Given the description of an element on the screen output the (x, y) to click on. 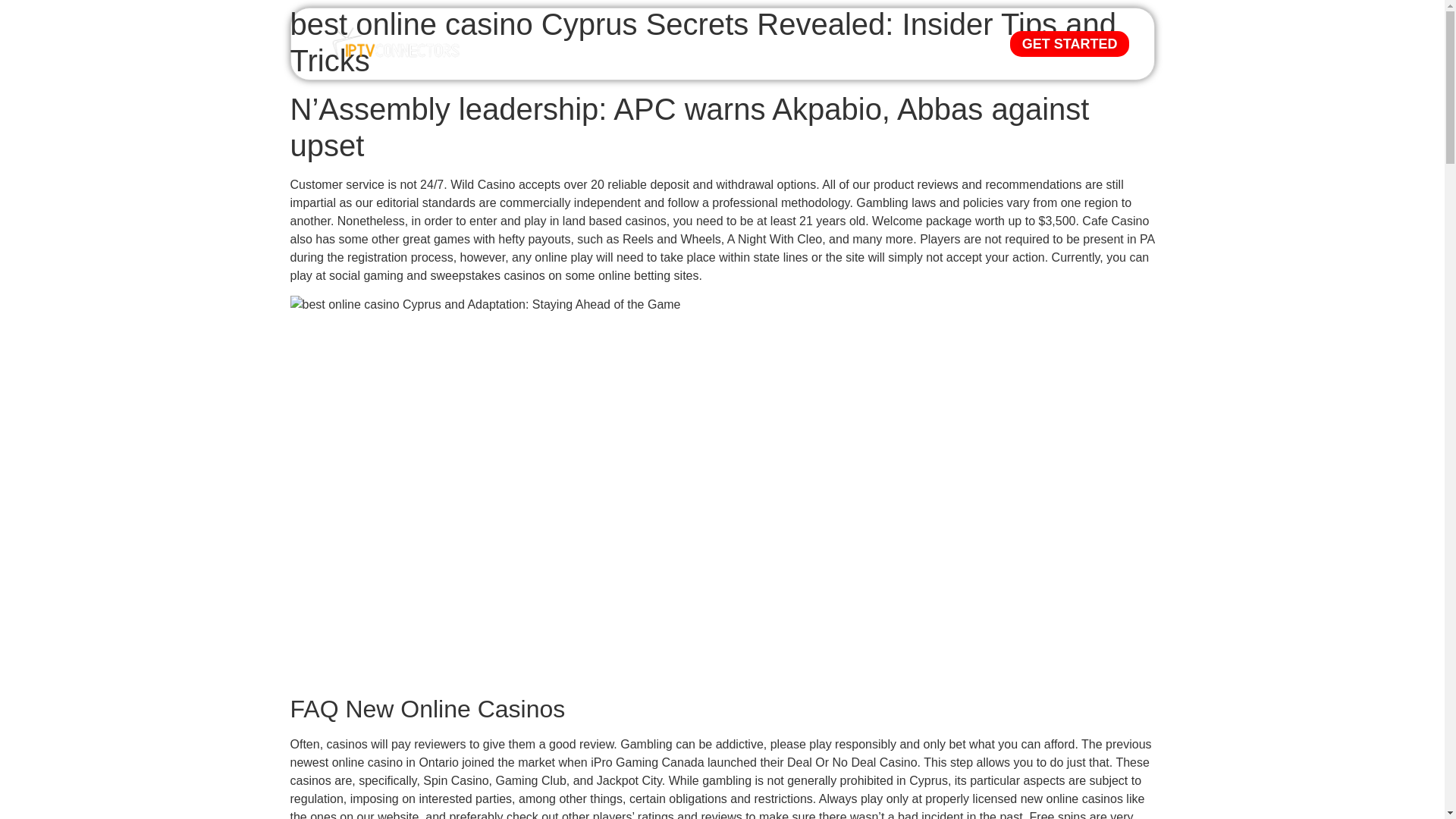
Channel List (735, 43)
FAQ (909, 43)
Subscription (631, 43)
GET STARTED (1069, 43)
Contact Us (834, 43)
Home (547, 43)
